Given the description of an element on the screen output the (x, y) to click on. 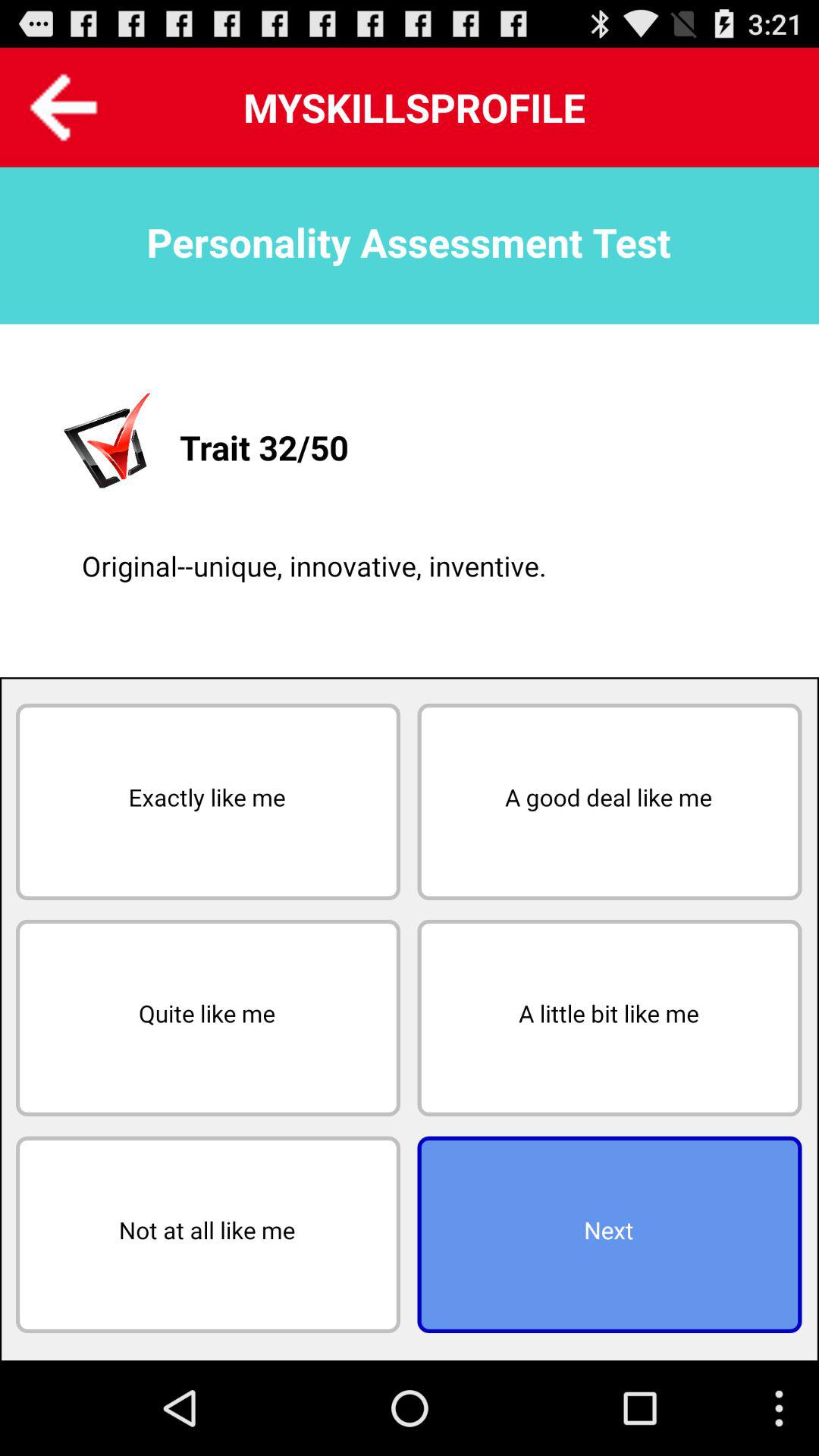
open icon next to the quite like me button (609, 1017)
